Given the description of an element on the screen output the (x, y) to click on. 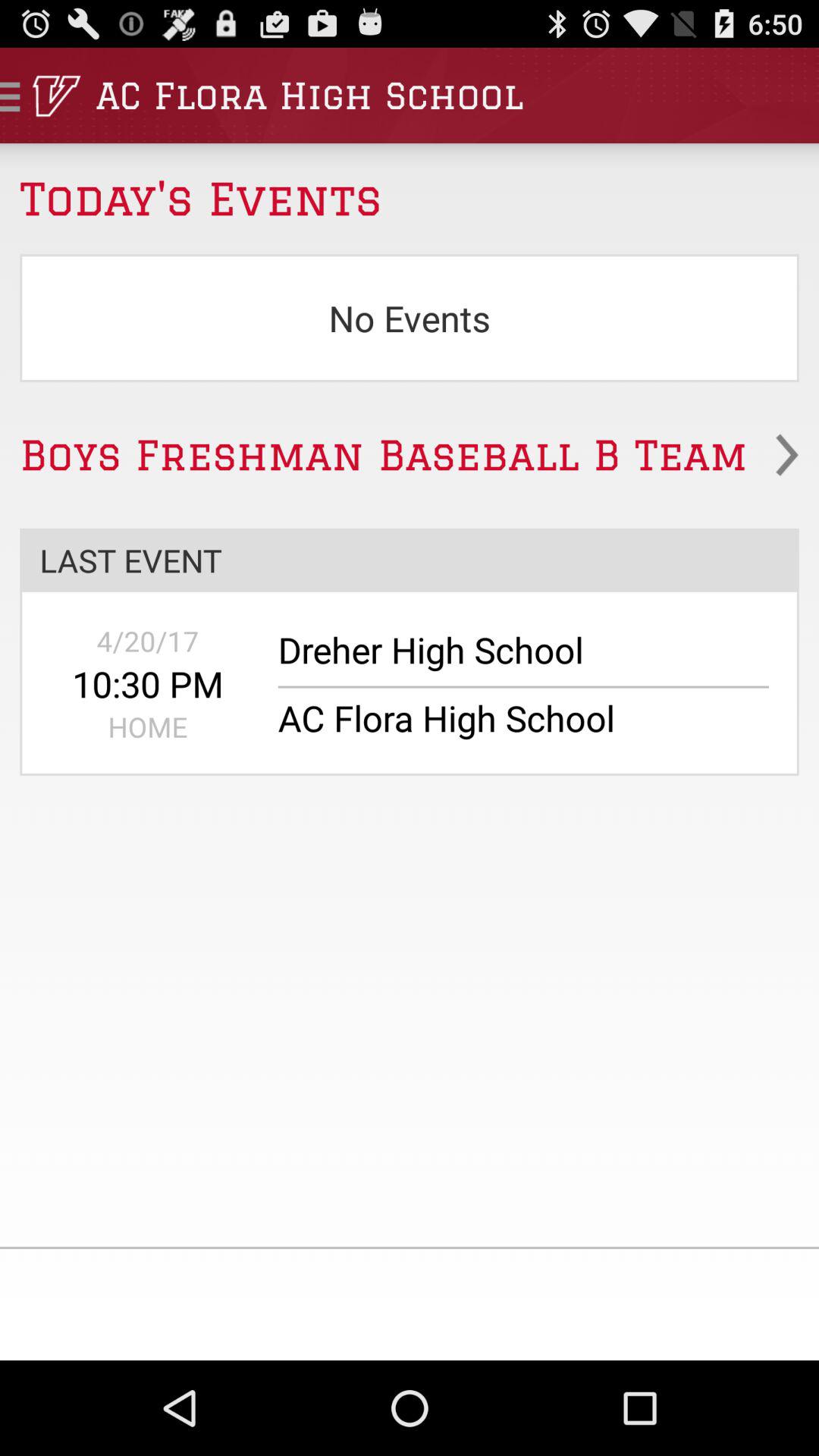
launch the item below the today's events app (409, 318)
